Given the description of an element on the screen output the (x, y) to click on. 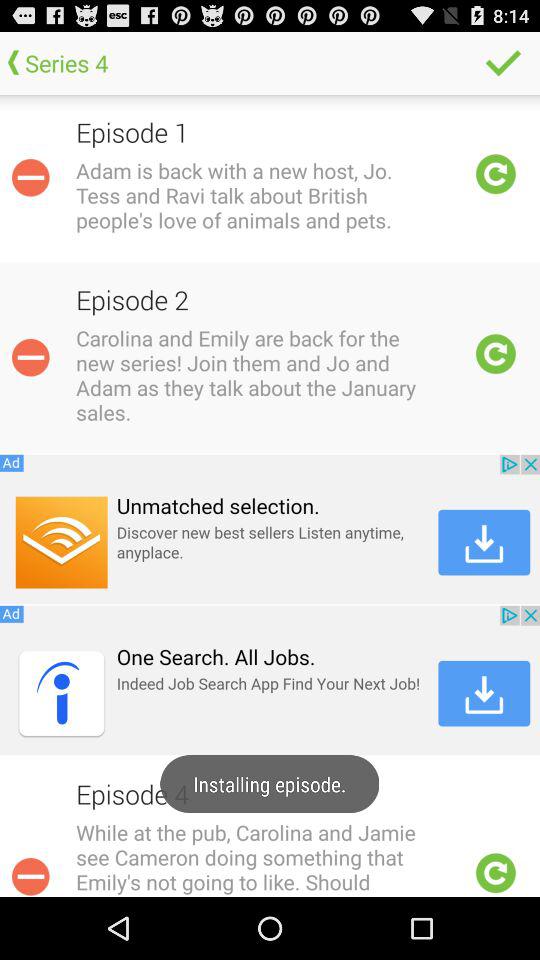
minimize blurb (30, 357)
